Given the description of an element on the screen output the (x, y) to click on. 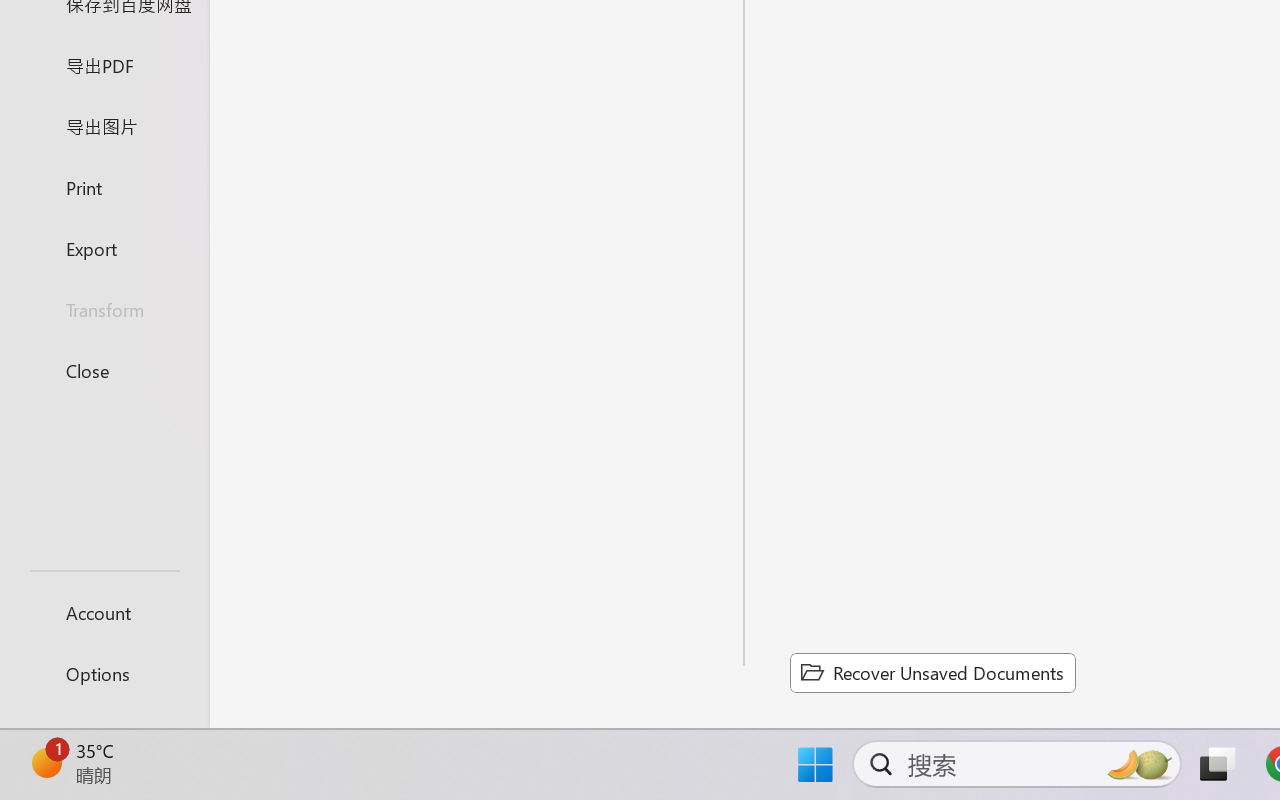
Options (104, 673)
Account (104, 612)
Recover Unsaved Documents (932, 672)
Print (104, 186)
Transform (104, 309)
Export (104, 248)
